Given the description of an element on the screen output the (x, y) to click on. 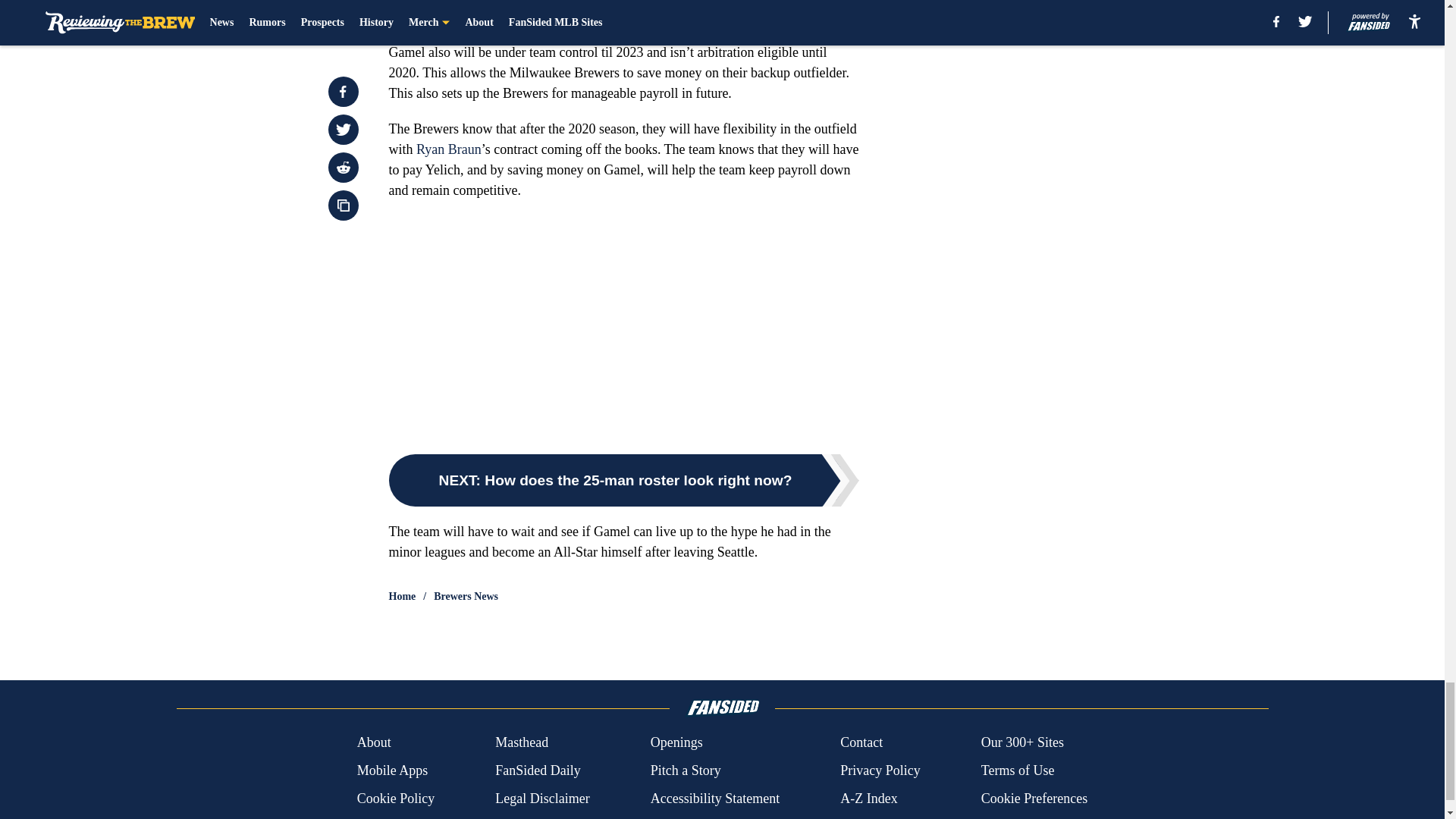
Brewers News (465, 596)
Home (401, 596)
Masthead (521, 742)
About (373, 742)
Contact (861, 742)
Openings (676, 742)
Ryan Braun (448, 149)
NEXT: How does the 25-man roster look right now? (623, 480)
